Given the description of an element on the screen output the (x, y) to click on. 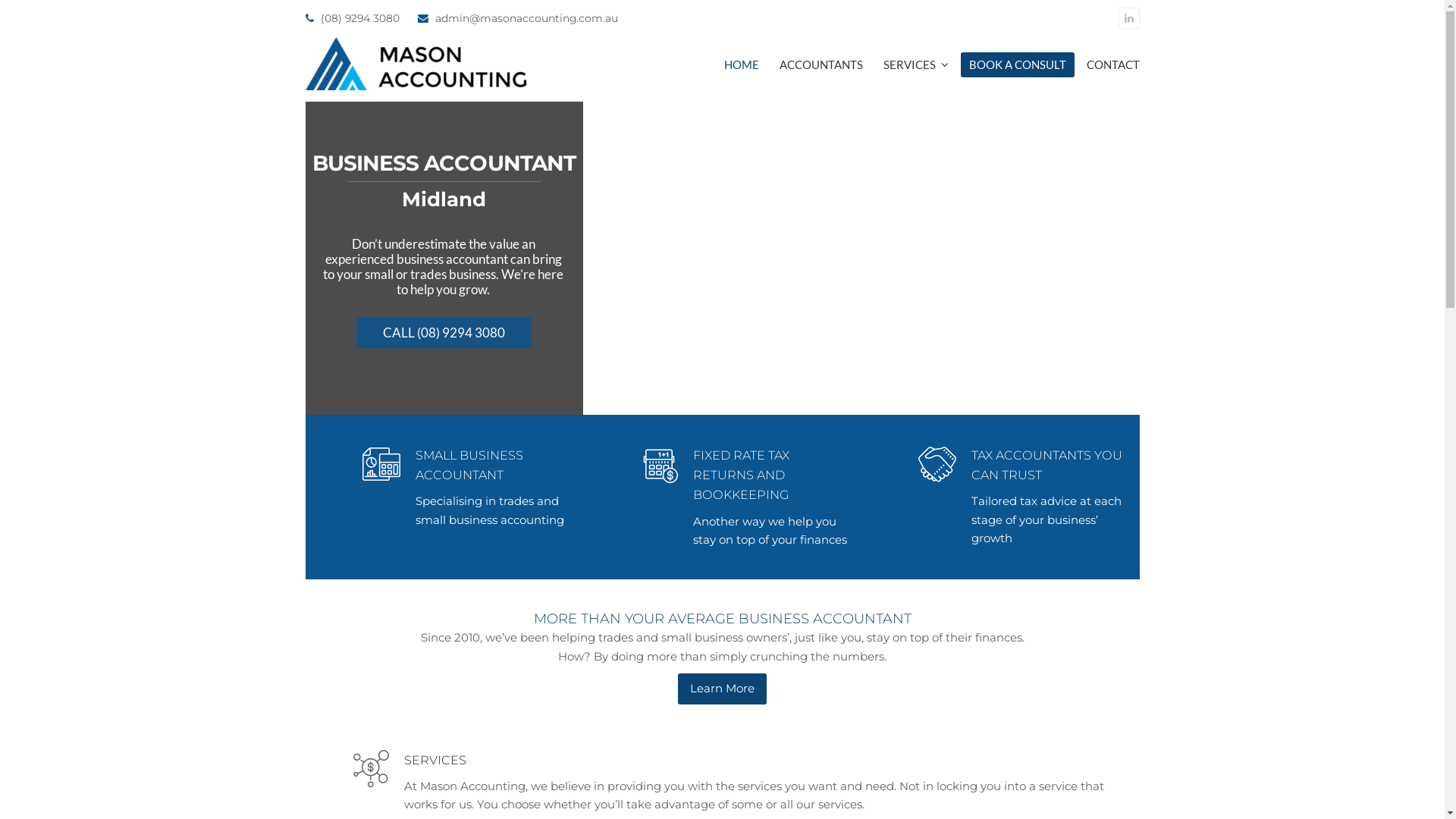
admin@masonaccounting.com.au Element type: text (526, 18)
CONTACT Element type: text (1113, 65)
(08) 9294 3080 Element type: text (359, 18)
HOME Element type: text (741, 65)
BOOK A CONSULT Element type: text (1016, 65)
Learn More Element type: text (721, 688)
LinkedIn Element type: text (1128, 17)
SERVICES Element type: text (916, 65)
ACCOUNTANTS Element type: text (820, 65)
